Given the description of an element on the screen output the (x, y) to click on. 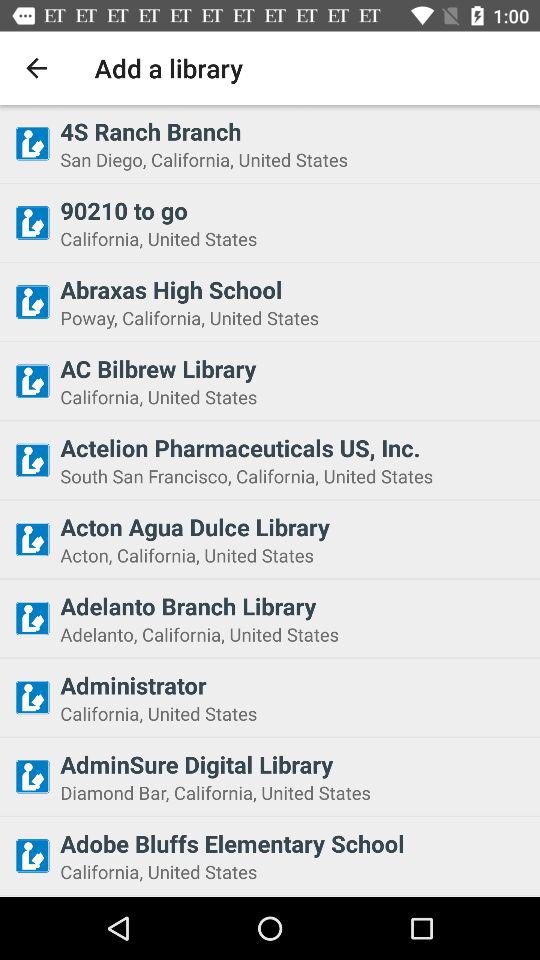
choose the icon to the left of the add a library icon (36, 68)
